Given the description of an element on the screen output the (x, y) to click on. 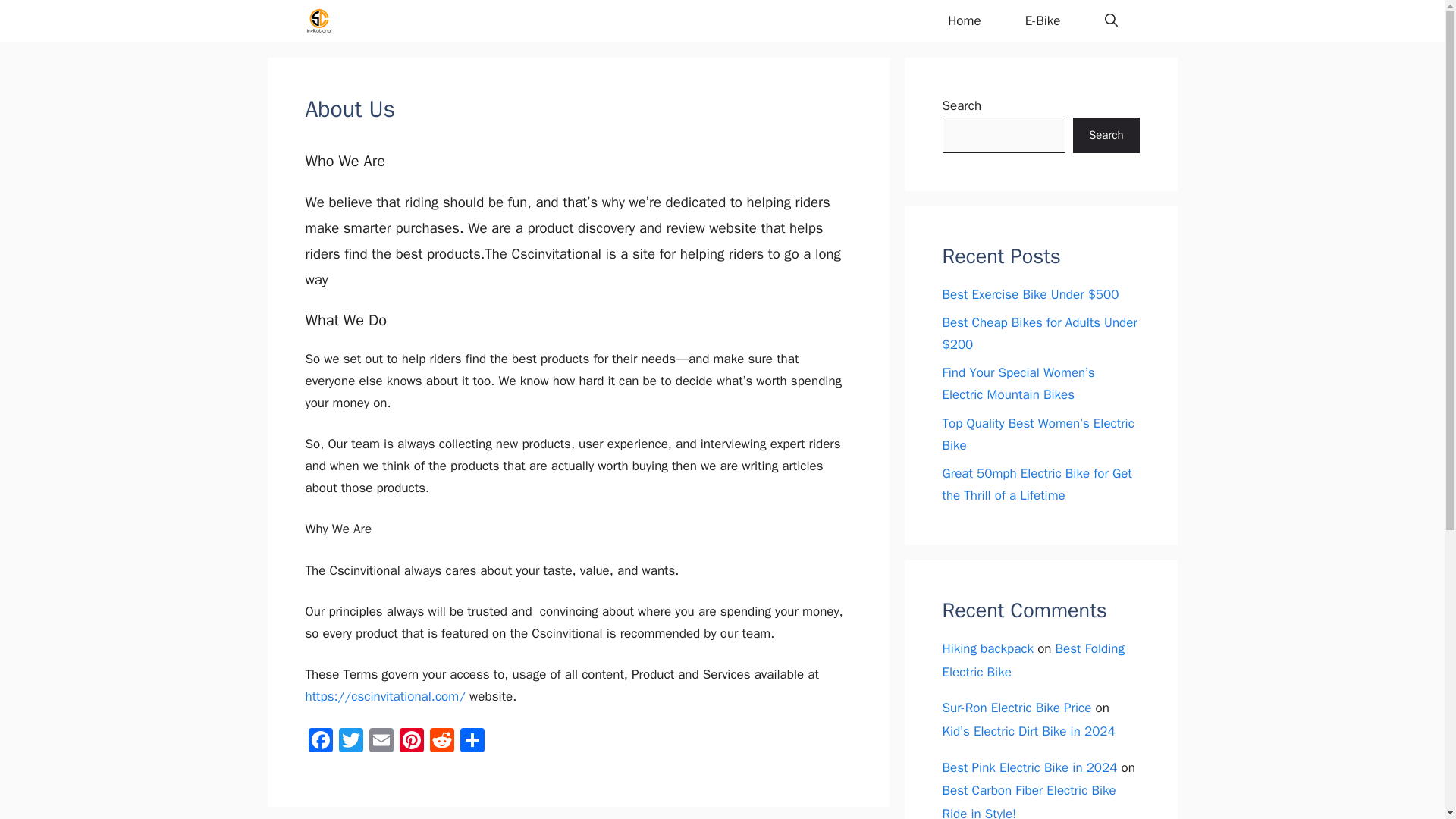
Twitter (349, 742)
Best Folding Electric Bike (1033, 660)
Great 50mph Electric Bike for Get the Thrill of a Lifetime (1036, 484)
Email (380, 742)
Best Carbon Fiber Electric Bike Ride in Style! (1028, 800)
Reddit (441, 742)
Hiking backpack (987, 648)
Email (380, 742)
Best Pink Electric Bike in 2024 (1029, 767)
Twitter (349, 742)
E-Bike (1043, 21)
Facebook (319, 742)
Search (1106, 135)
Pinterest (411, 742)
Share (471, 742)
